Given the description of an element on the screen output the (x, y) to click on. 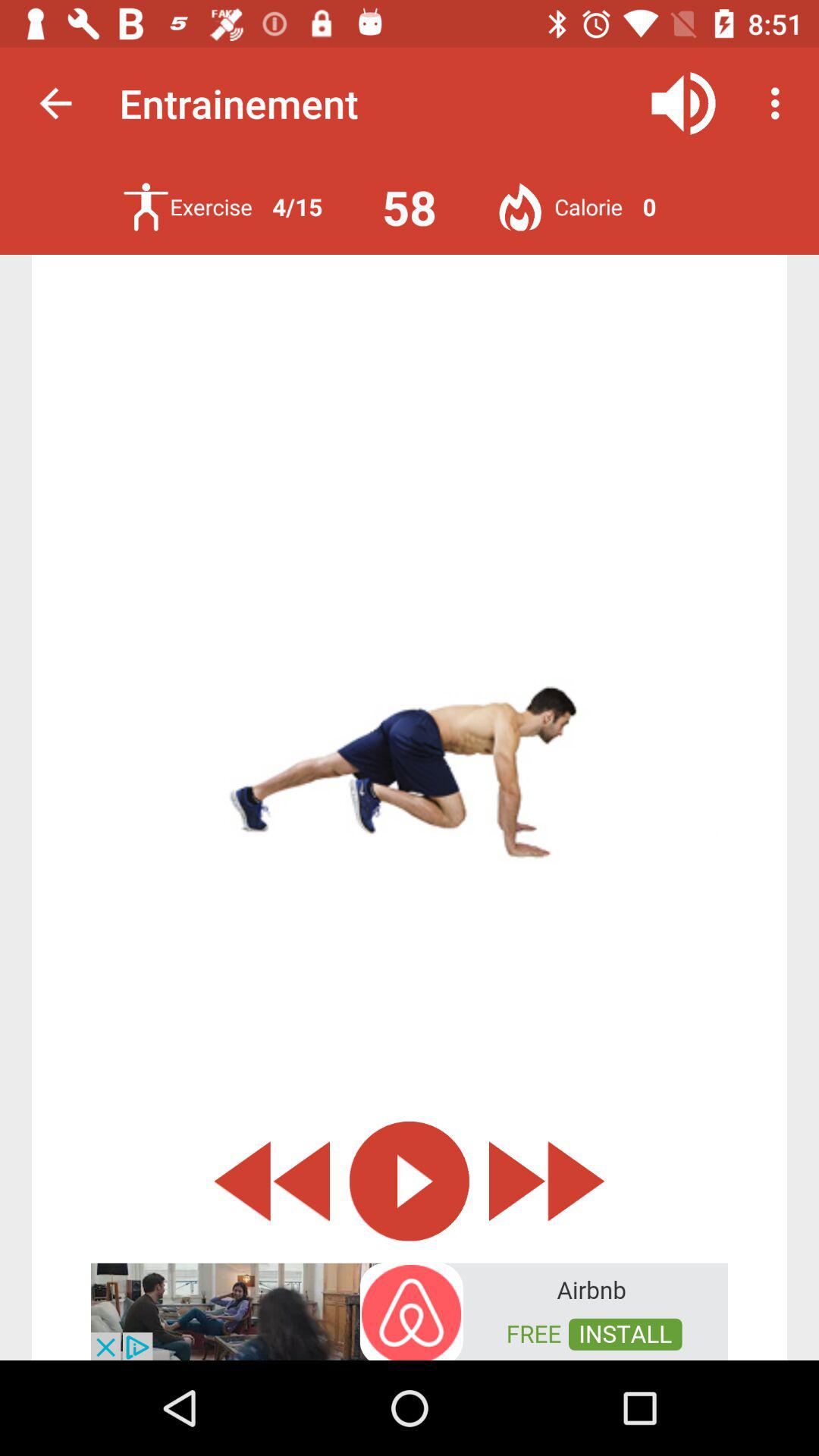
go to next (546, 1181)
